Given the description of an element on the screen output the (x, y) to click on. 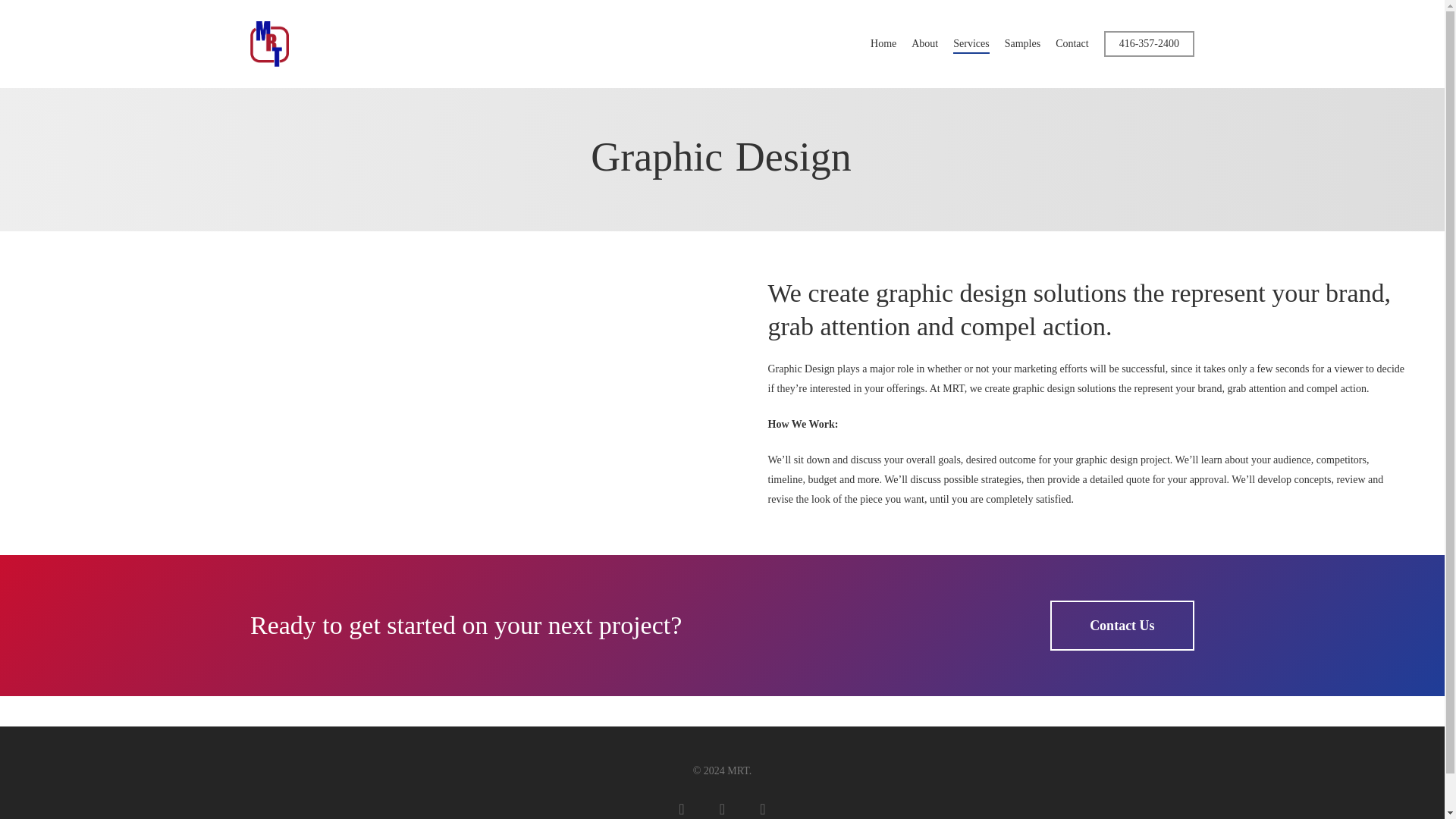
About (924, 43)
Home (883, 43)
416-357-2400 (1148, 43)
Services (970, 43)
Contact (1072, 43)
Contact Us (1121, 625)
Samples (1022, 43)
